Given the description of an element on the screen output the (x, y) to click on. 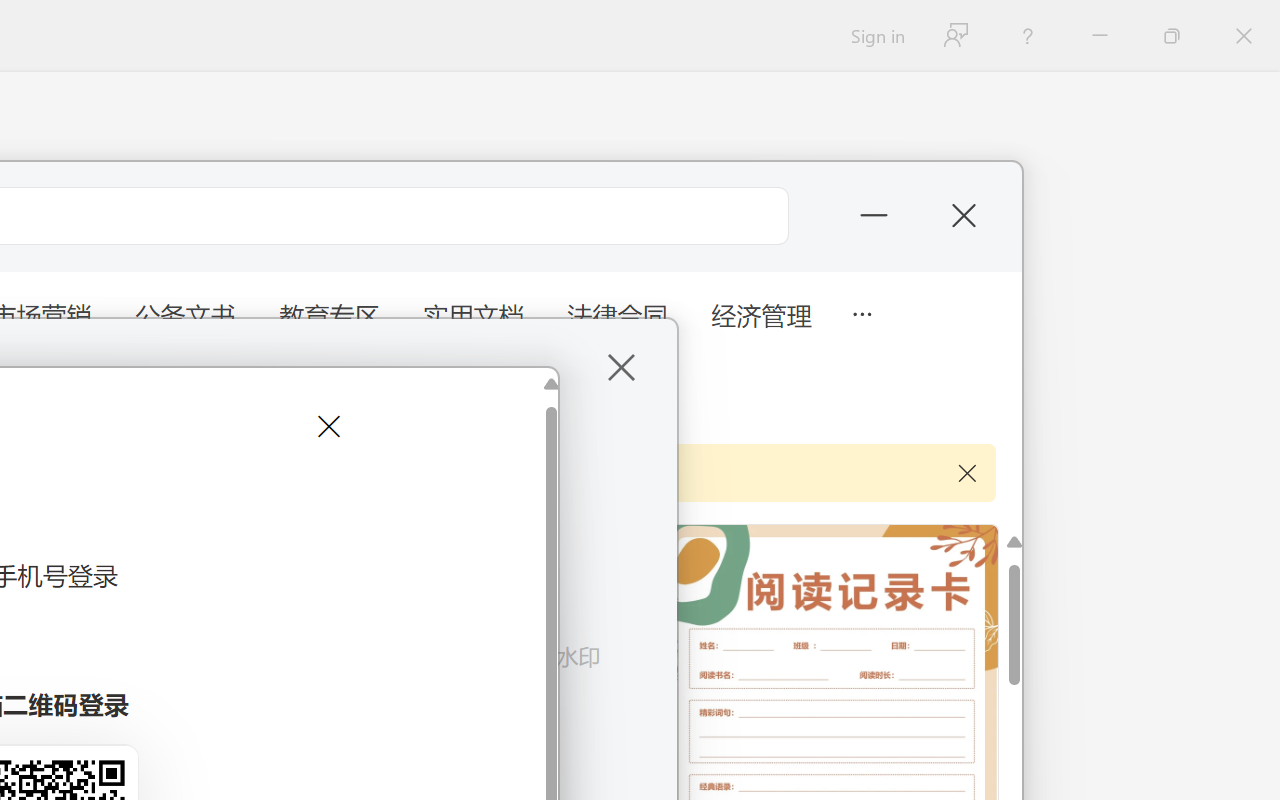
Cancel (326, 425)
Sign in (875, 35)
5 more tabs (861, 312)
